Given the description of an element on the screen output the (x, y) to click on. 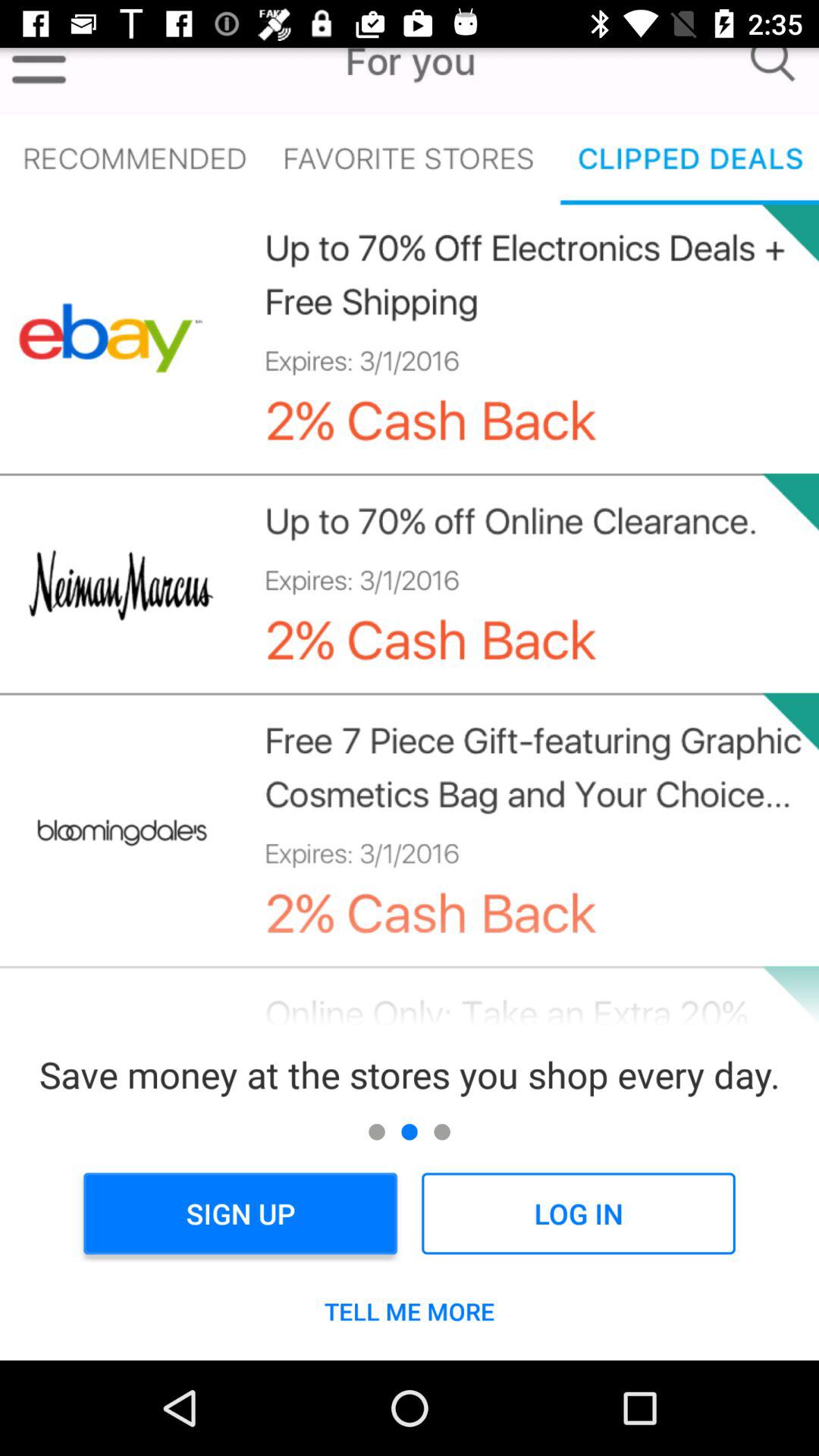
open log in (578, 1213)
